Given the description of an element on the screen output the (x, y) to click on. 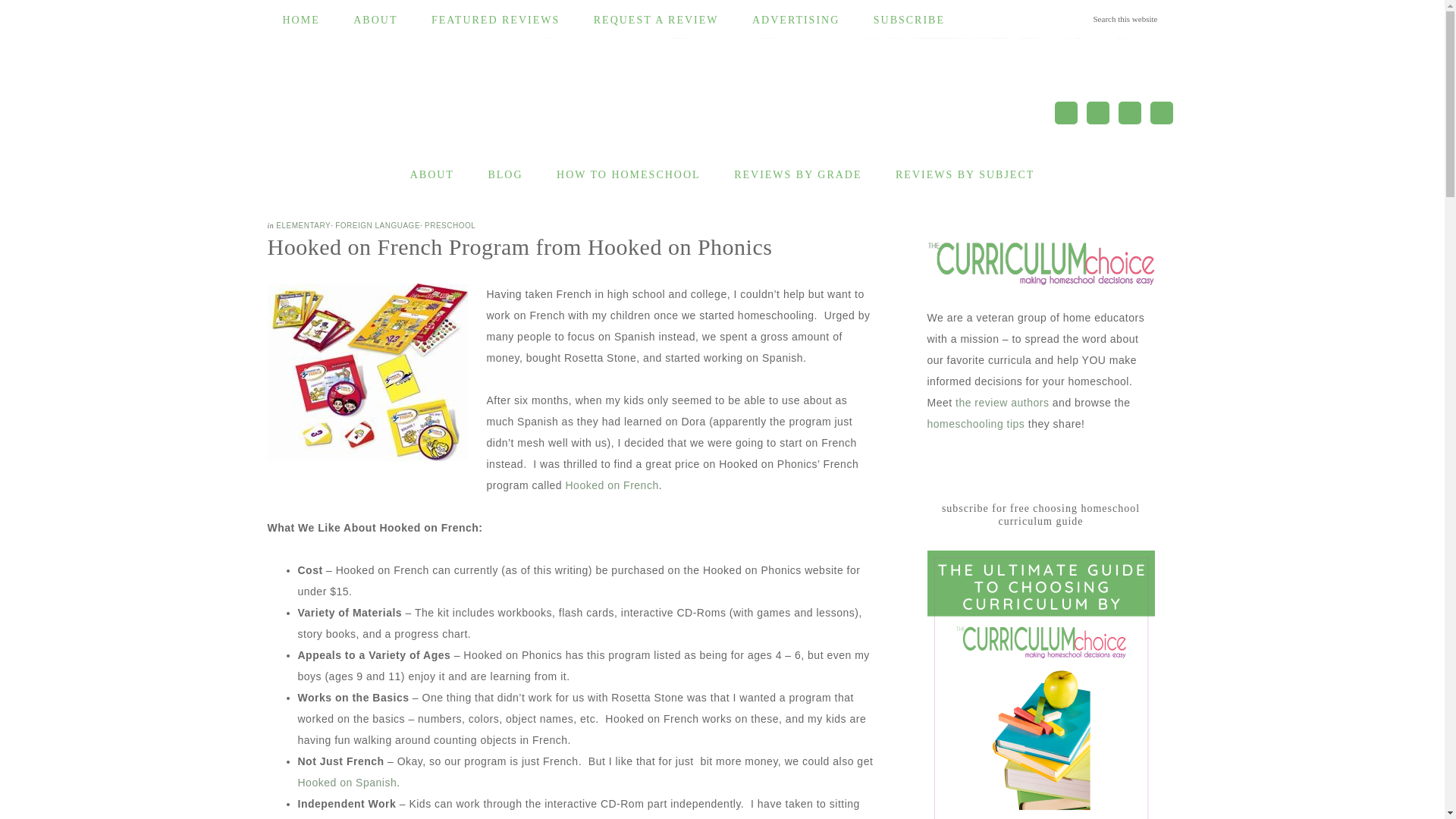
FEATURED REVIEWS (495, 20)
REVIEWS BY SUBJECT (964, 174)
THE CURRICULUM CHOICE (456, 104)
BLOG (504, 174)
HOME (300, 20)
HOW TO HOMESCHOOL (628, 174)
ABOUT (374, 20)
ADVERTISING (795, 20)
